Given the description of an element on the screen output the (x, y) to click on. 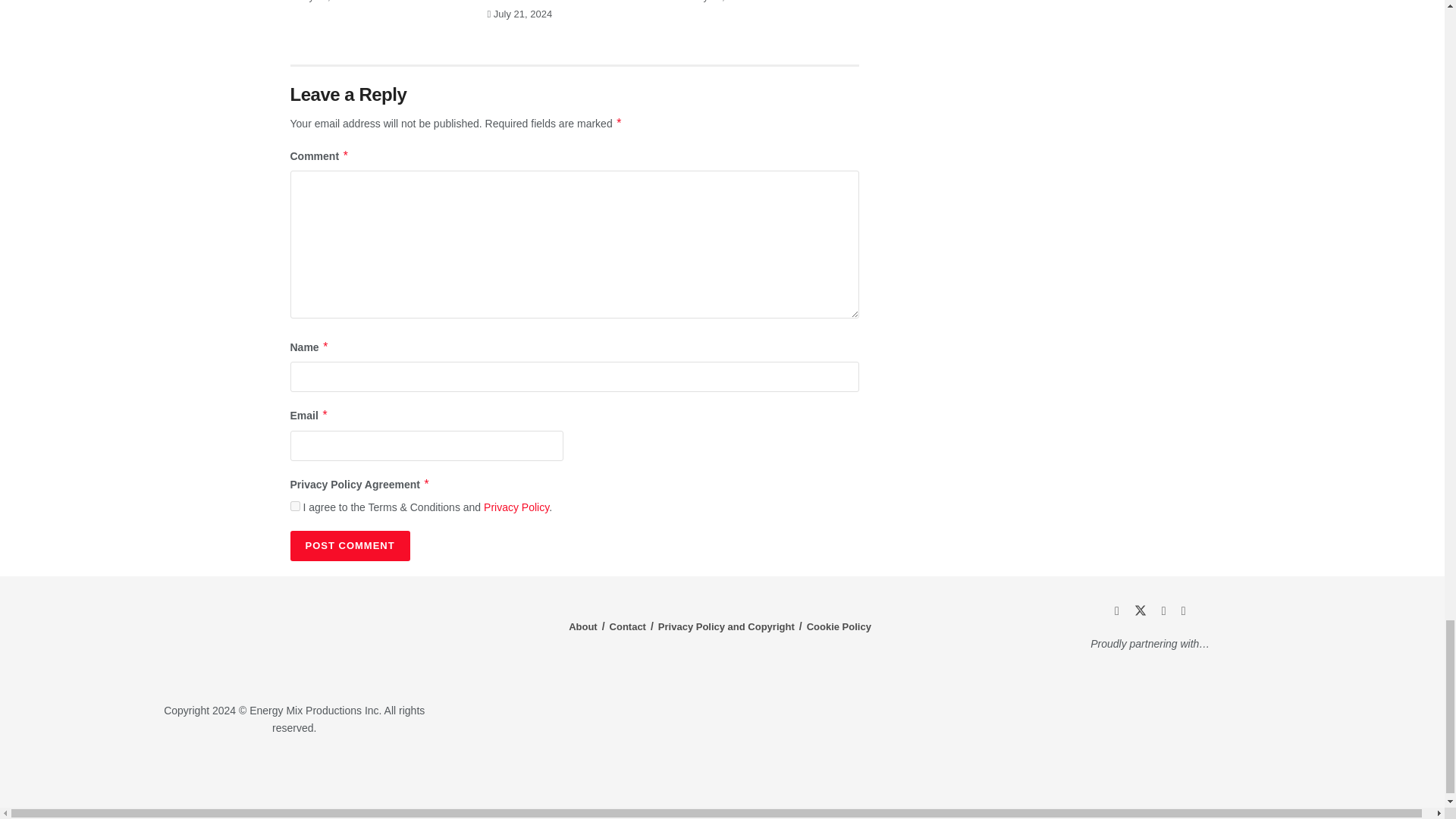
tem-logo-2024 (294, 640)
Post Comment (349, 545)
Climate-and-Capital (1221, 772)
on (294, 506)
